Given the description of an element on the screen output the (x, y) to click on. 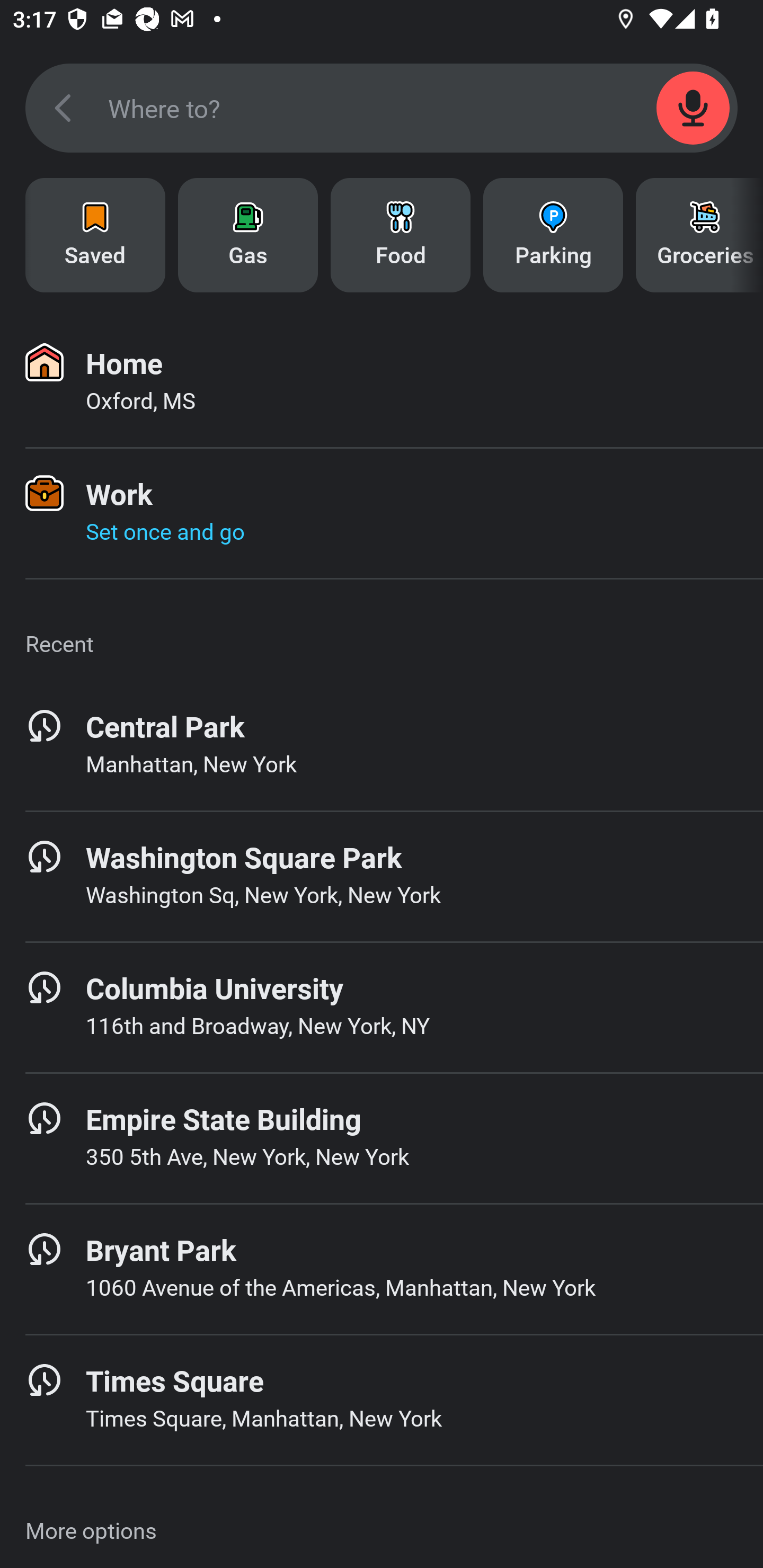
SEARCH_SCREEN_SEARCH_FIELD Where to? (381, 108)
Saved (95, 234)
Gas (247, 234)
Food (400, 234)
Parking (552, 234)
Groceries (699, 234)
Home Oxford, MS (381, 382)
Work Set once and go (381, 513)
Central Park Manhattan, New York (381, 745)
Times Square Times Square, Manhattan, New York (381, 1399)
START_STATE_SEARCH_FIELD Where to? (381, 1504)
